Given the description of an element on the screen output the (x, y) to click on. 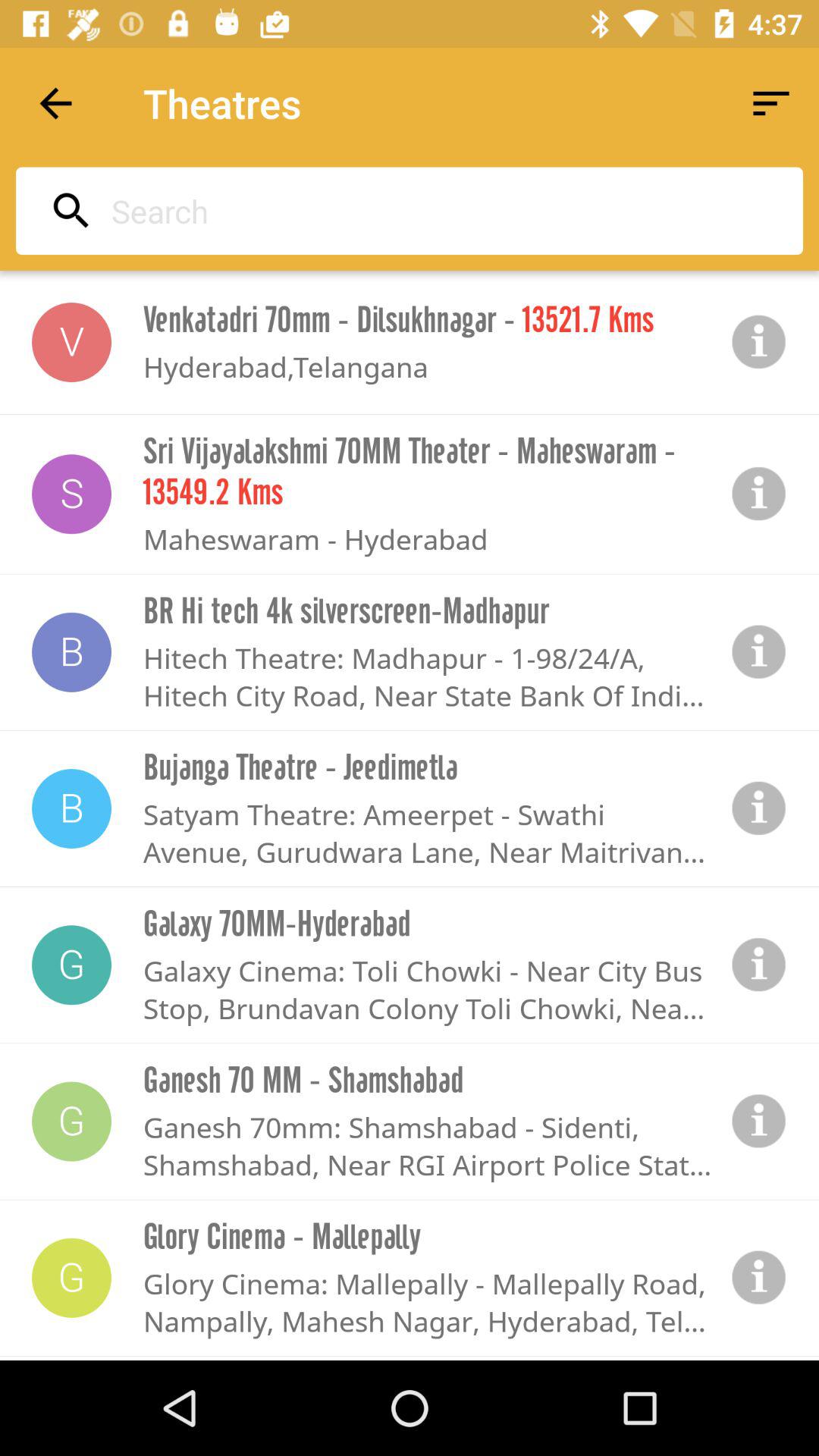
launch the icon above venkatadri 70mm dilsukhnagar icon (405, 210)
